Given the description of an element on the screen output the (x, y) to click on. 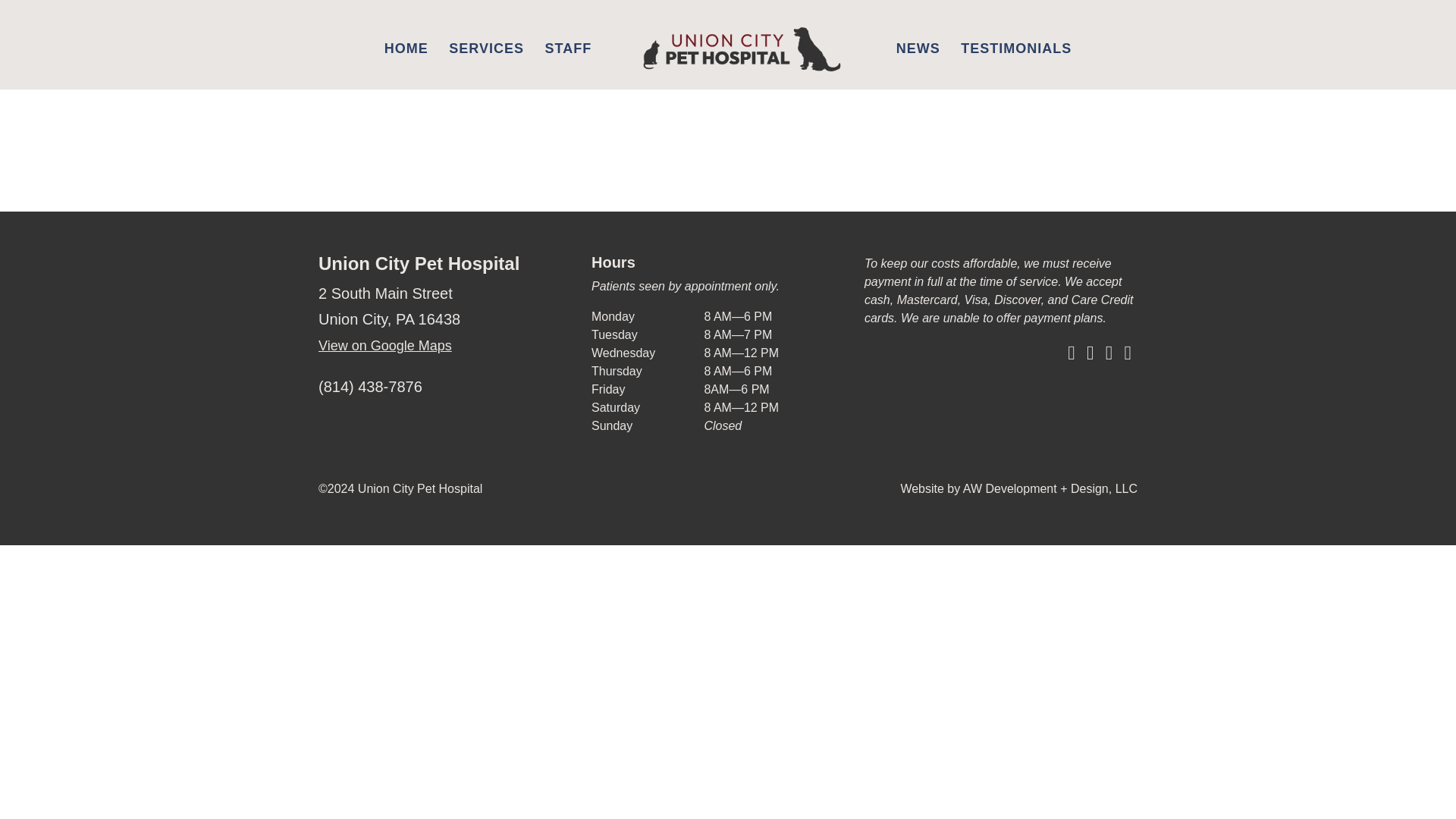
SERVICES (486, 59)
View on Google Maps (384, 345)
NEWS (918, 59)
TESTIMONIALS (1015, 59)
STAFF (568, 59)
HOME (406, 59)
